Given the description of an element on the screen output the (x, y) to click on. 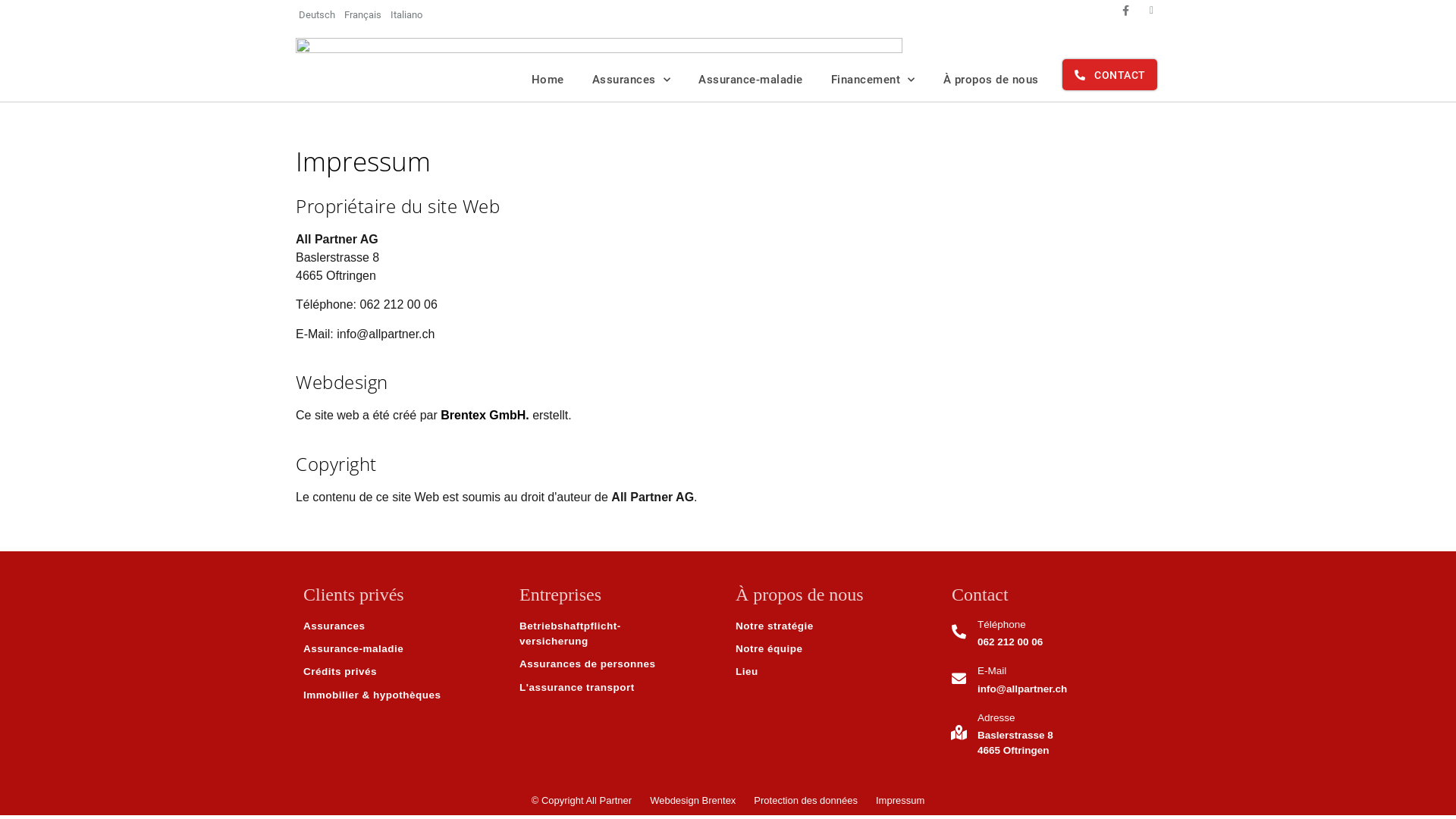
Deutsch Element type: text (316, 14)
Italiano Element type: text (405, 14)
Brentex GmbH. Element type: text (484, 414)
Webdesign Brentex Element type: text (692, 800)
CONTACT Element type: text (1109, 74)
Assurances Element type: text (631, 79)
L'assurance transport Element type: text (619, 687)
Home Element type: text (547, 79)
Assurance-maladie Element type: text (750, 79)
Assurances de personnes Element type: text (619, 663)
Assurances Element type: text (403, 625)
Betriebshaftpflicht-
versicherung Element type: text (619, 633)
Impressum Element type: text (899, 800)
Financement Element type: text (873, 79)
Assurance-maladie Element type: text (403, 648)
Lieu Element type: text (835, 671)
